Given the description of an element on the screen output the (x, y) to click on. 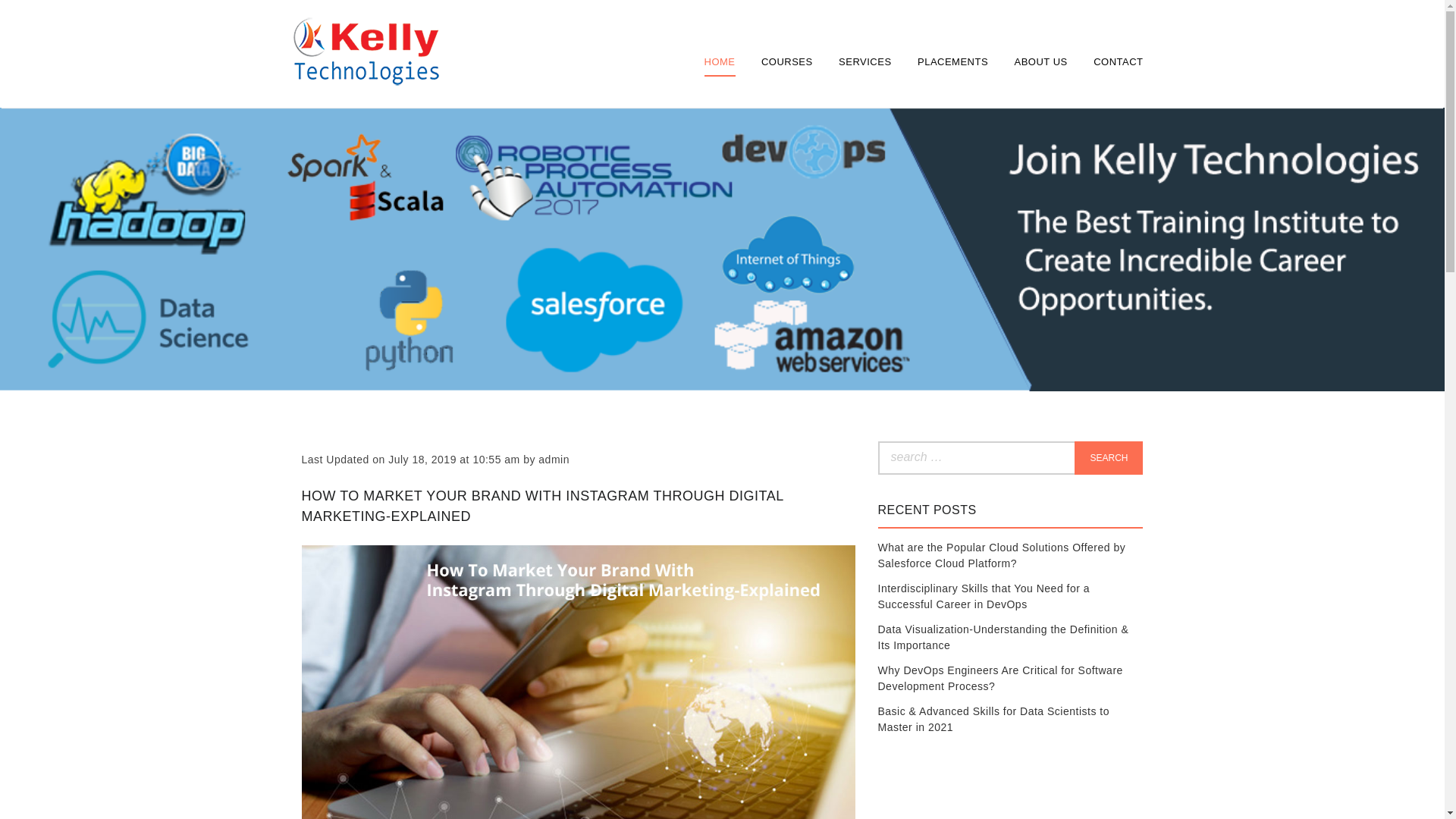
Search (1108, 458)
PLACEMENTS (952, 61)
BLOG KELLY TECHNOLOGIES (364, 123)
Search (1108, 458)
Search (1108, 458)
